Given the description of an element on the screen output the (x, y) to click on. 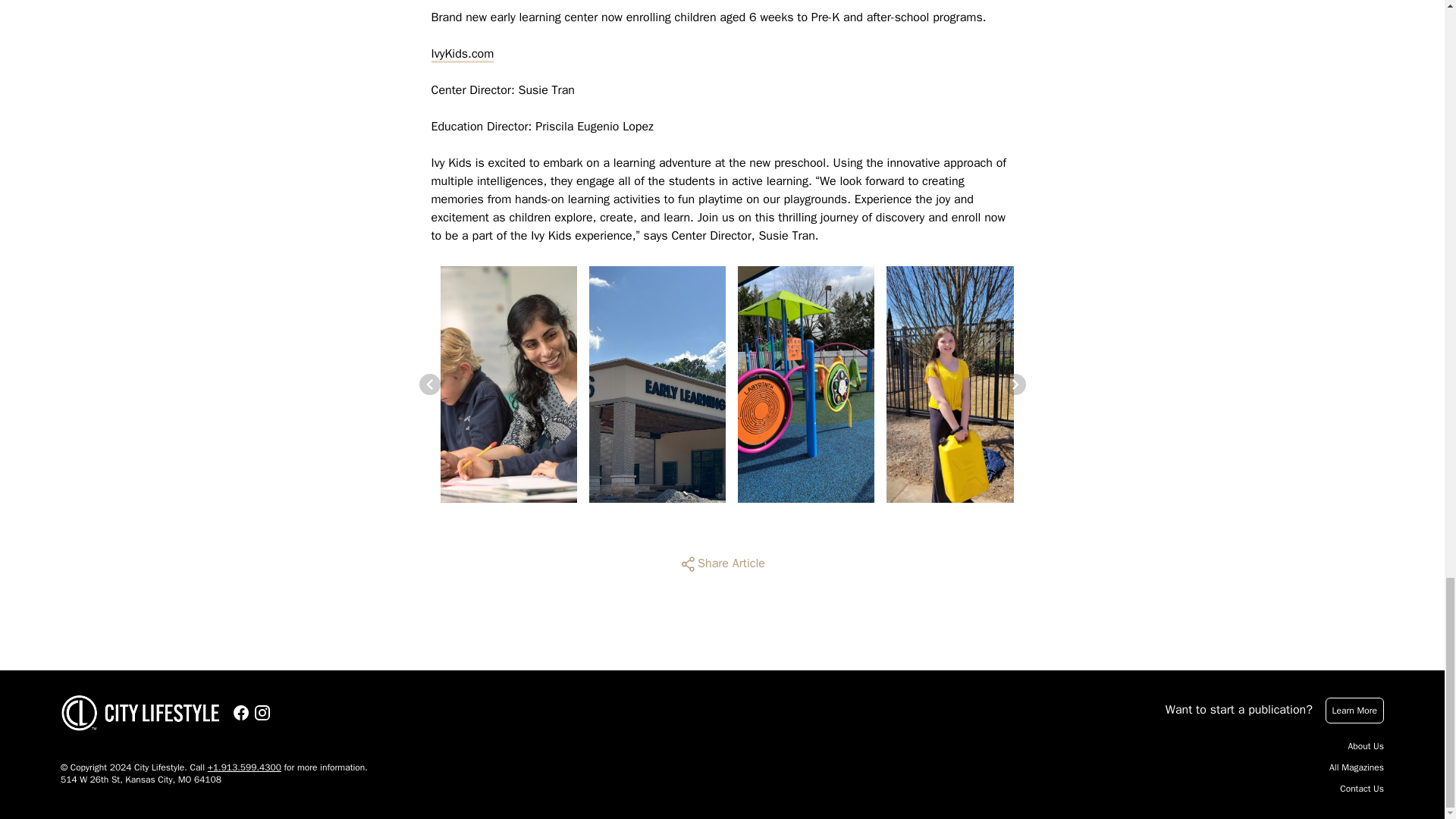
Learn More (1354, 710)
IvyKids.com (461, 54)
Share Article (722, 563)
About Us (1366, 746)
Contact Us (1361, 788)
All Magazines (1356, 767)
